Given the description of an element on the screen output the (x, y) to click on. 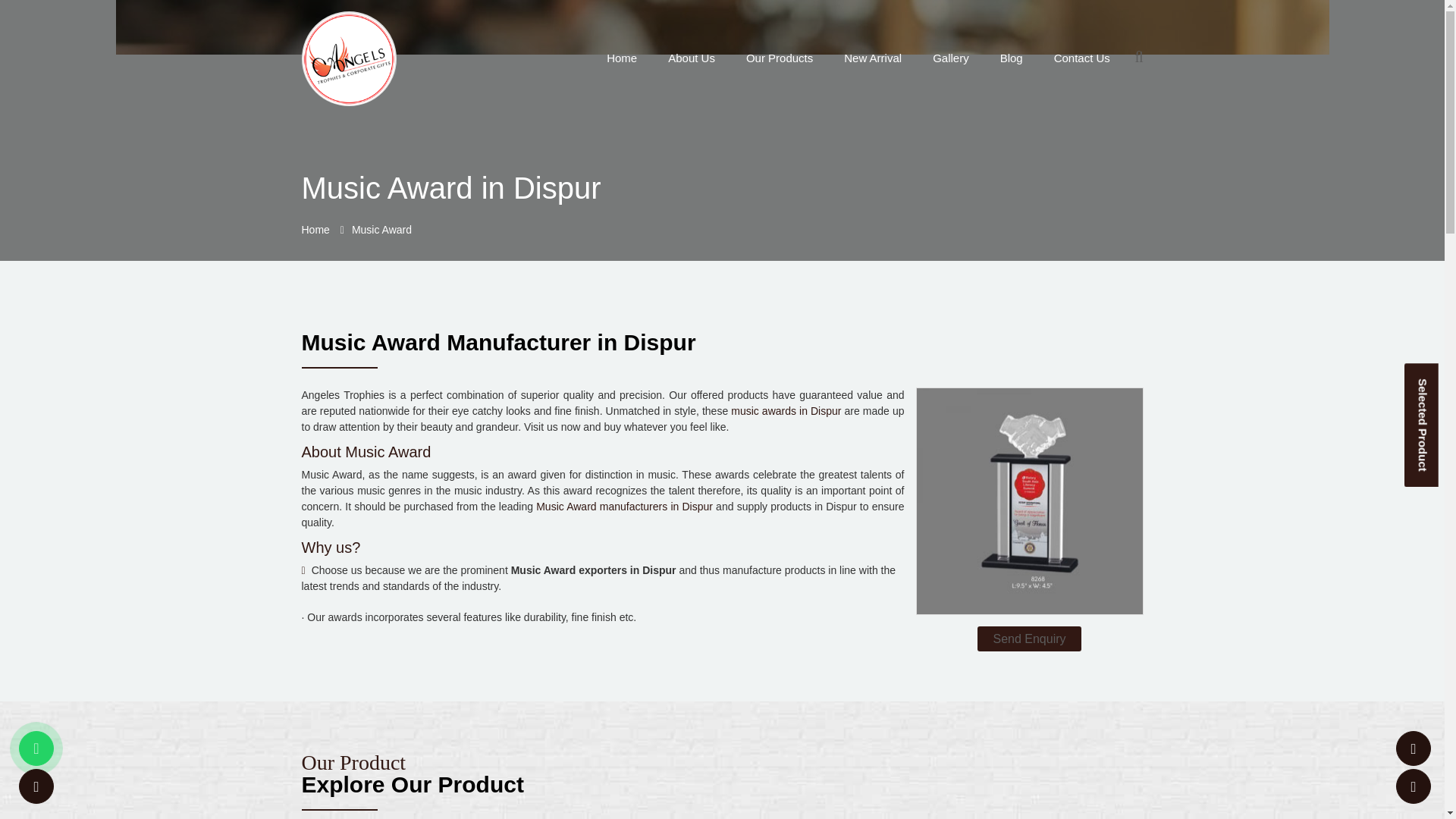
Our Products (778, 57)
Home (621, 57)
Angels Trophies (348, 57)
Trophies Manufacturers in Dispur (778, 57)
About Us (692, 57)
Welcome to Angels Trophies in Dispur (348, 58)
